Given the description of an element on the screen output the (x, y) to click on. 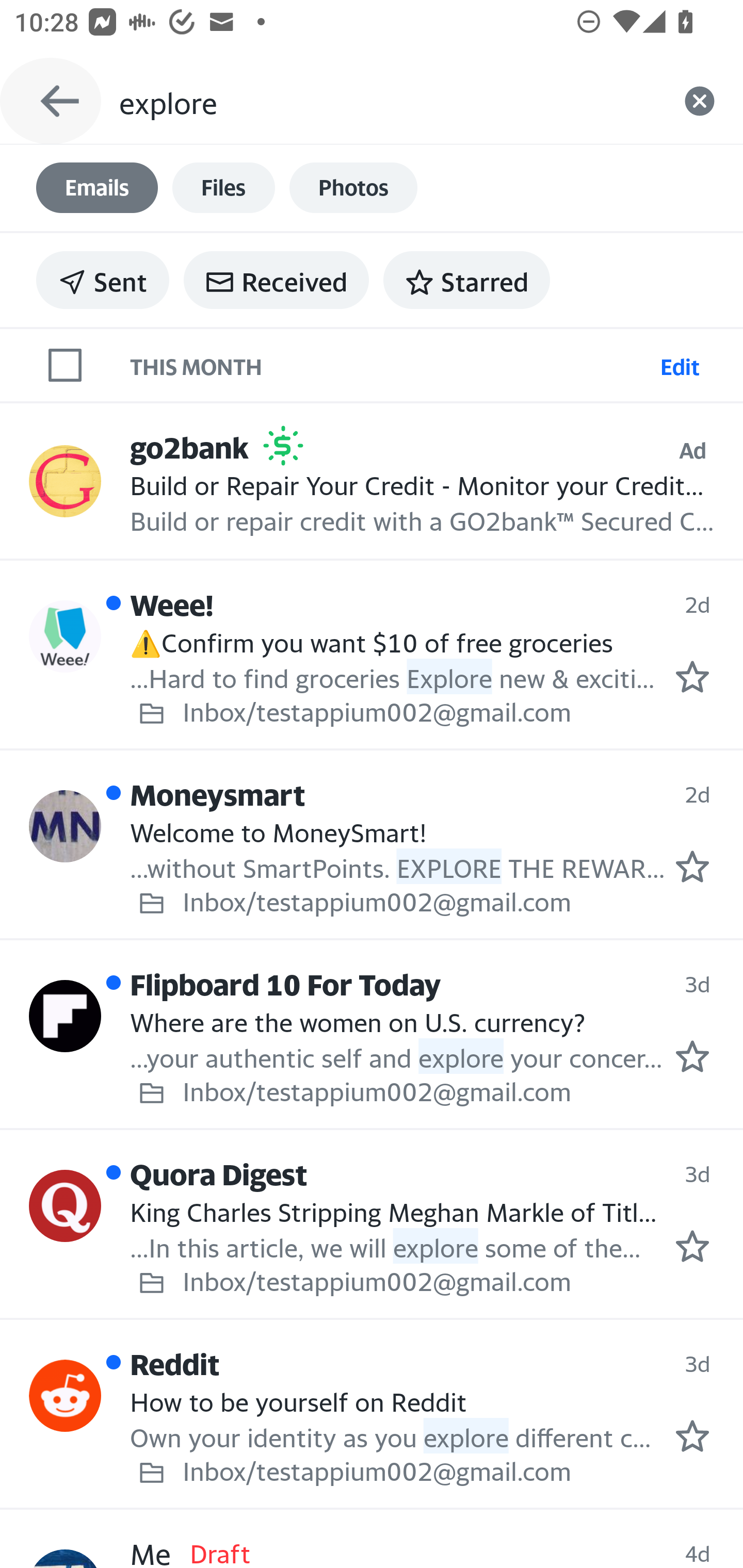
Back (50, 101)
explore (387, 101)
Clear (699, 101)
Emails (96, 188)
Files (223, 188)
Photos (353, 188)
Sent (102, 279)
Received (276, 279)
Starred (466, 279)
THIS MONTH (391, 364)
Edit Select emails (679, 364)
Sponsored (282, 445)
Ad (692, 449)
Profile
Weee! (64, 636)
Mark as starred. (692, 676)
Profile
Moneysmart (64, 826)
Mark as starred. (692, 866)
Profile
Flipboard 10 For Today (64, 1016)
Mark as starred. (692, 1056)
Profile
Quora Digest (64, 1205)
Mark as starred. (692, 1245)
Profile
Reddit (64, 1395)
Mark as starred. (692, 1435)
